Given the description of an element on the screen output the (x, y) to click on. 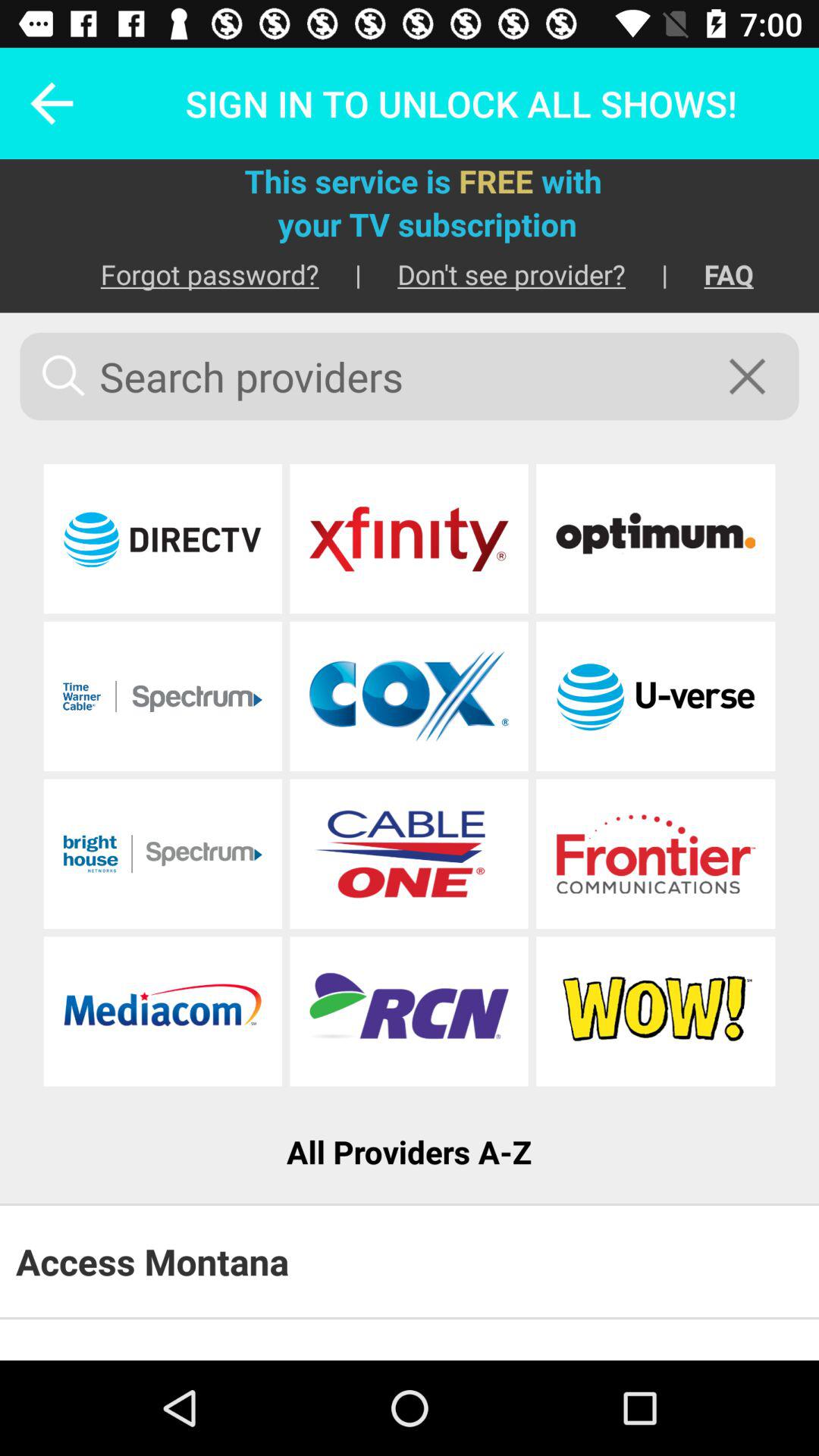
go to website (408, 1011)
